Given the description of an element on the screen output the (x, y) to click on. 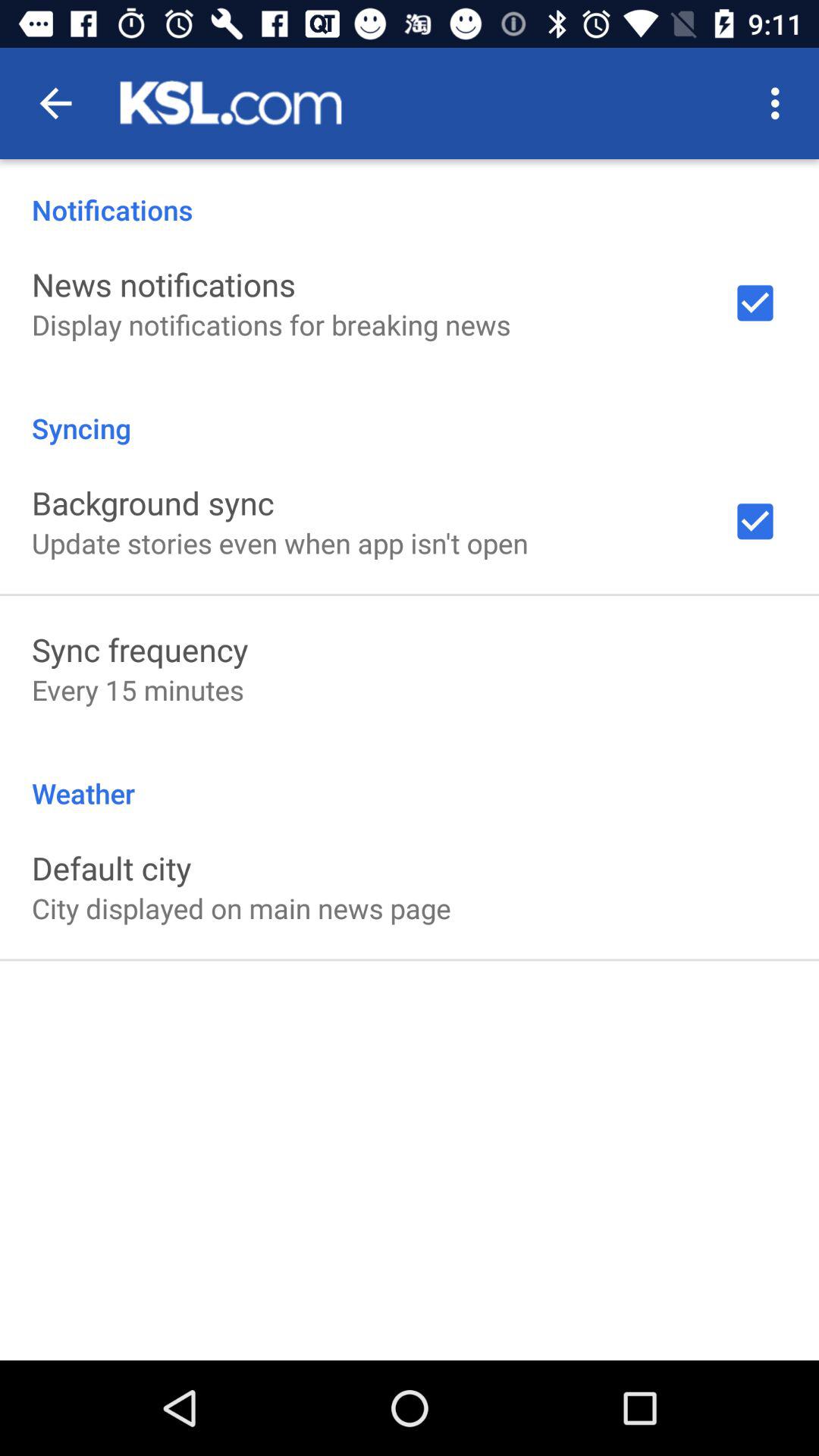
scroll until default city item (111, 867)
